Given the description of an element on the screen output the (x, y) to click on. 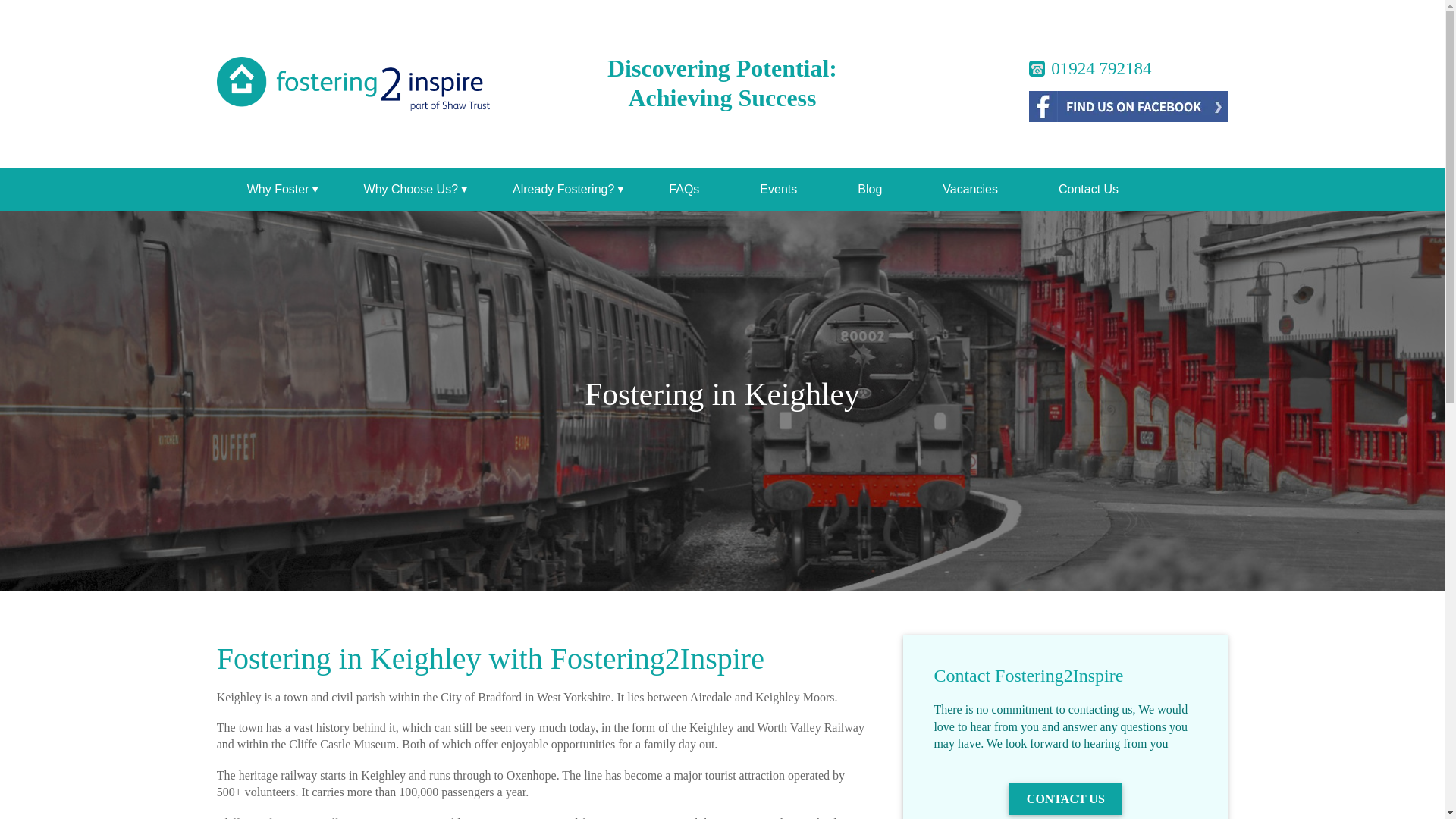
Contact Us (1087, 188)
FAQs (684, 188)
Vacancies (969, 188)
Why Choose Us? (408, 188)
Why Foster (274, 188)
01924 792184 (1090, 65)
CONTACT US (1065, 798)
Blog (869, 188)
Already Fostering? (560, 188)
Events (778, 188)
